Given the description of an element on the screen output the (x, y) to click on. 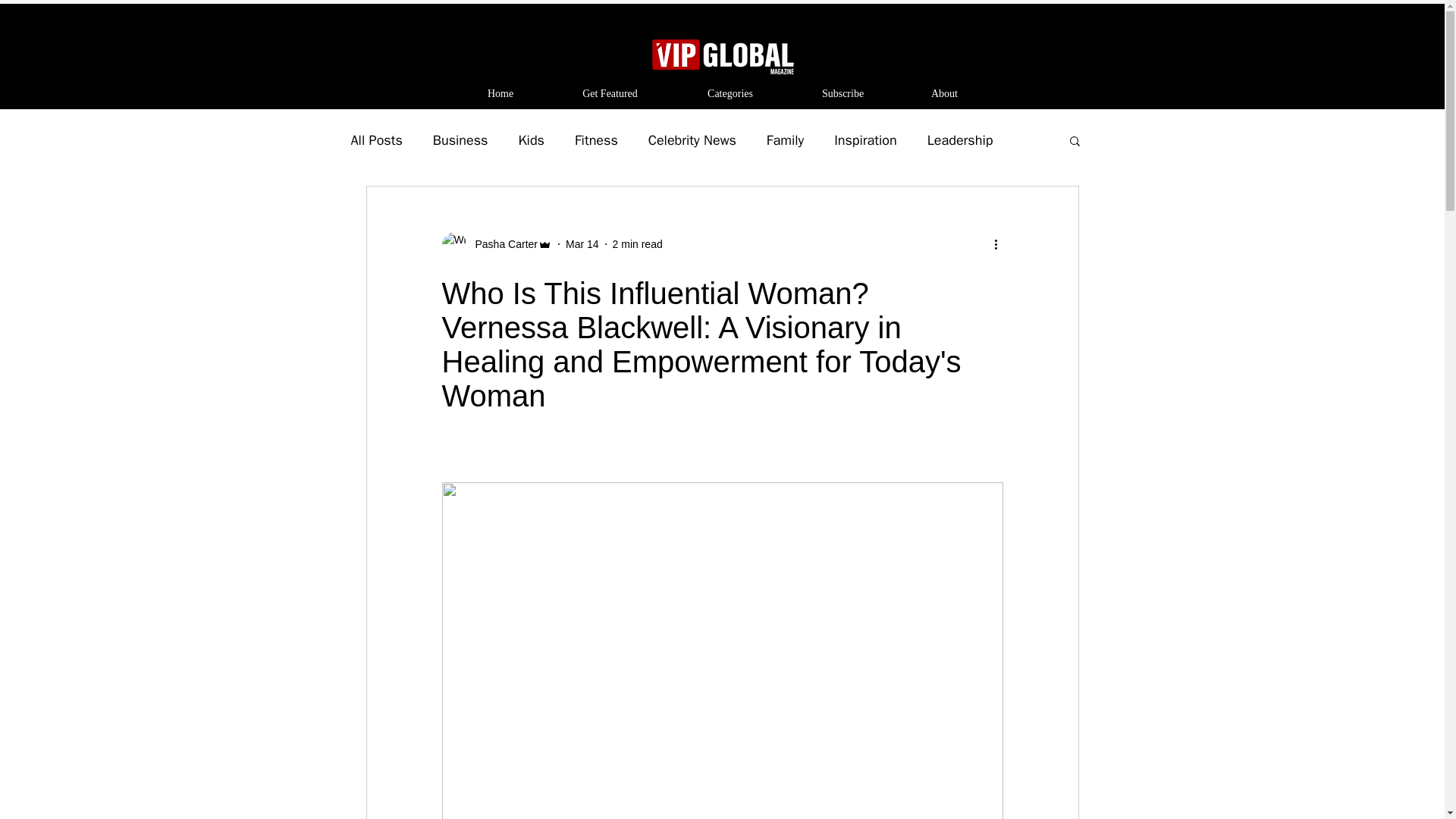
Family (785, 140)
Fitness (596, 140)
Business (459, 140)
About (944, 94)
Leadership (959, 140)
Celebrity News (691, 140)
All Posts (375, 140)
Pasha Carter (501, 244)
Mar 14 (582, 244)
Kids (531, 140)
Home (499, 94)
Categories (729, 94)
Subscribe (842, 94)
Get Featured (609, 94)
2 min read (637, 244)
